Given the description of an element on the screen output the (x, y) to click on. 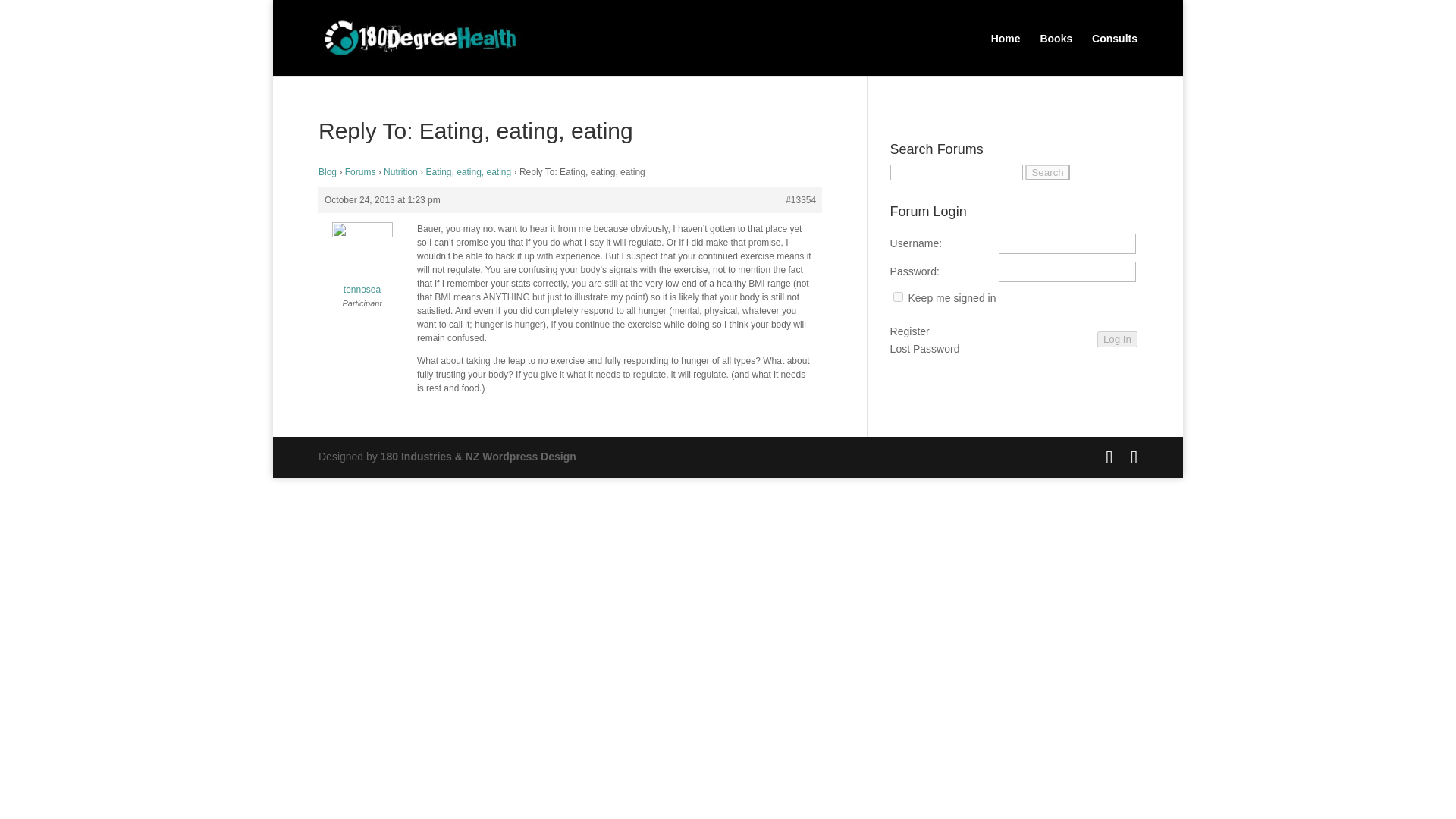
View tennosea's profile (362, 262)
Lost Password (924, 349)
Register (909, 331)
Nutrition (400, 172)
NZ Wordpress Design (478, 456)
Books (1055, 49)
Eating, eating, eating (468, 172)
forever (897, 296)
Register (909, 331)
Consults (1114, 49)
